Given the description of an element on the screen output the (x, y) to click on. 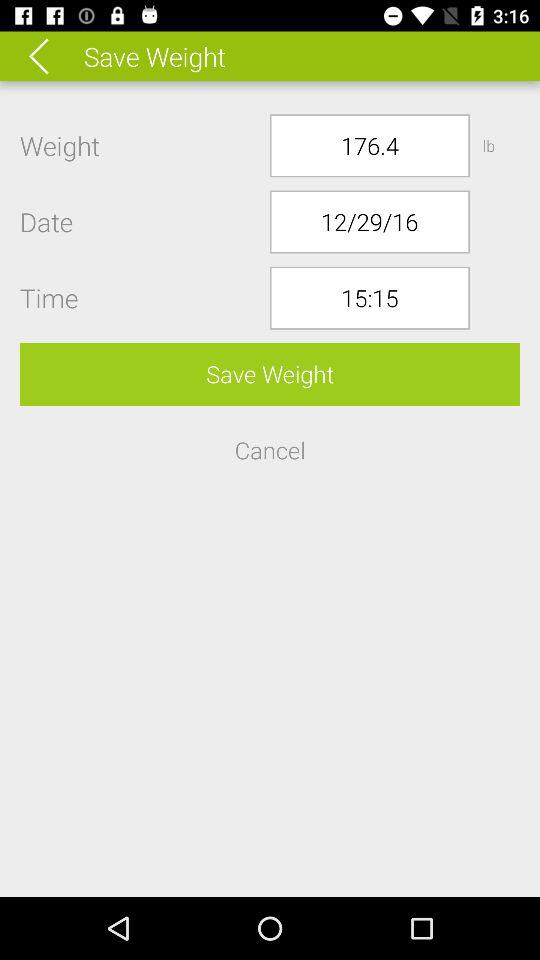
navigate to previous screen (52, 56)
